Given the description of an element on the screen output the (x, y) to click on. 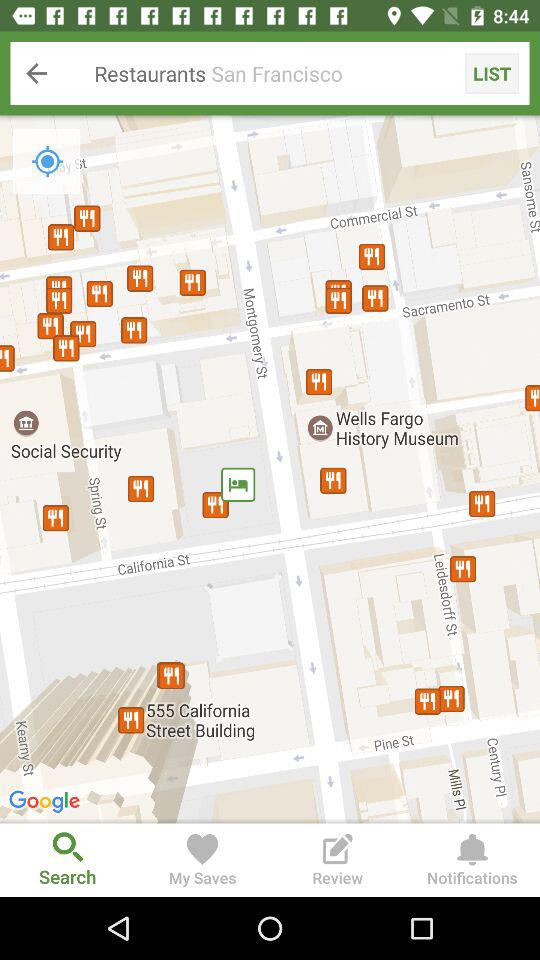
choose the restaurants san francisco item (269, 73)
